Given the description of an element on the screen output the (x, y) to click on. 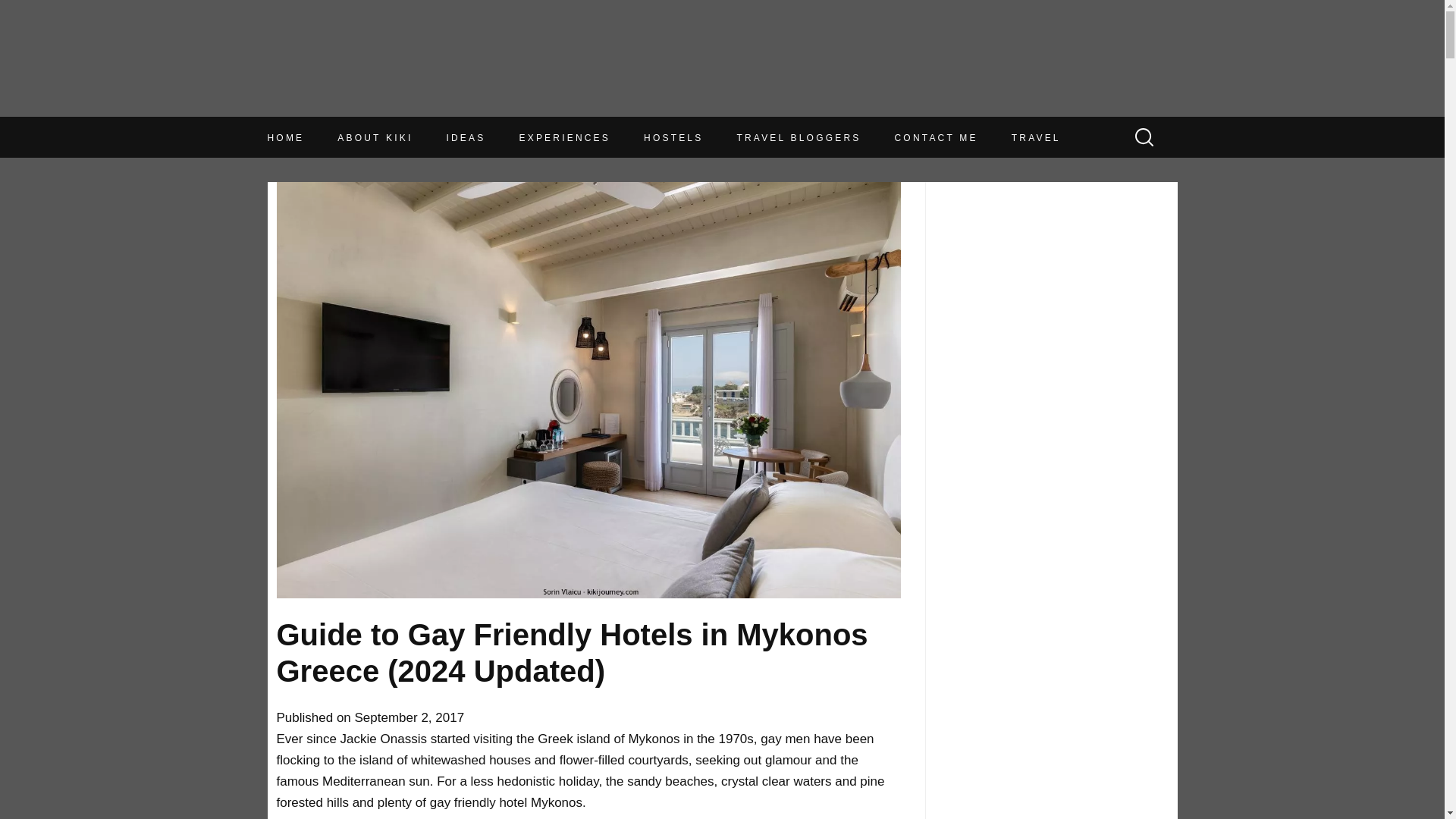
September 2, 2017 (409, 717)
ABOUT KIKI (374, 120)
TRAVEL (1036, 137)
TRAVEL BLOGGERS (798, 137)
CONTACT ME (936, 137)
HOSTELS (673, 137)
HOME (285, 96)
EXPERIENCES (564, 134)
IDEAS (464, 129)
